Given the description of an element on the screen output the (x, y) to click on. 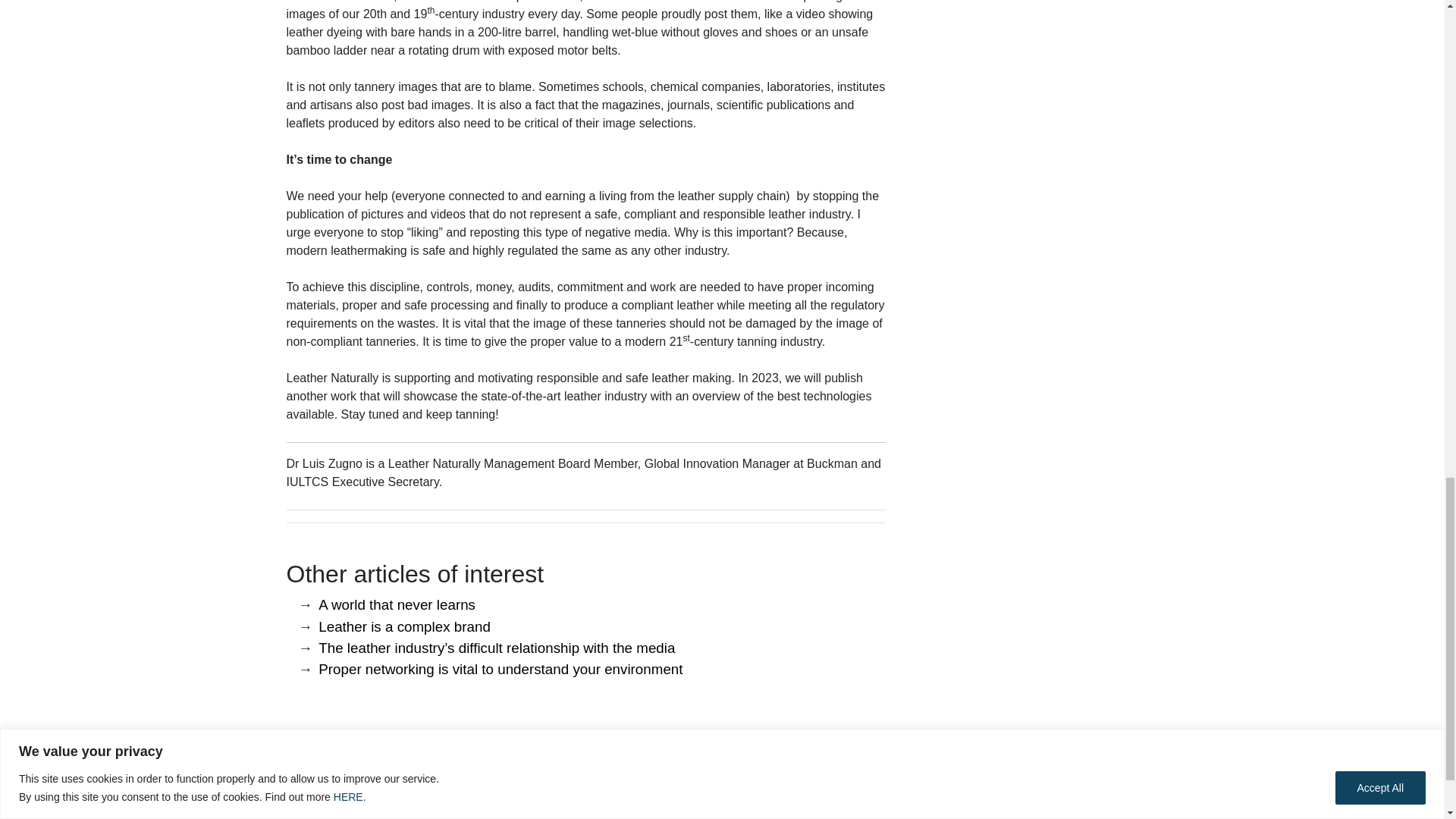
Proper networking is vital to understand your environment (500, 668)
Leather is a complex brand (404, 626)
About us (322, 748)
A world that never learns (397, 604)
